Given the description of an element on the screen output the (x, y) to click on. 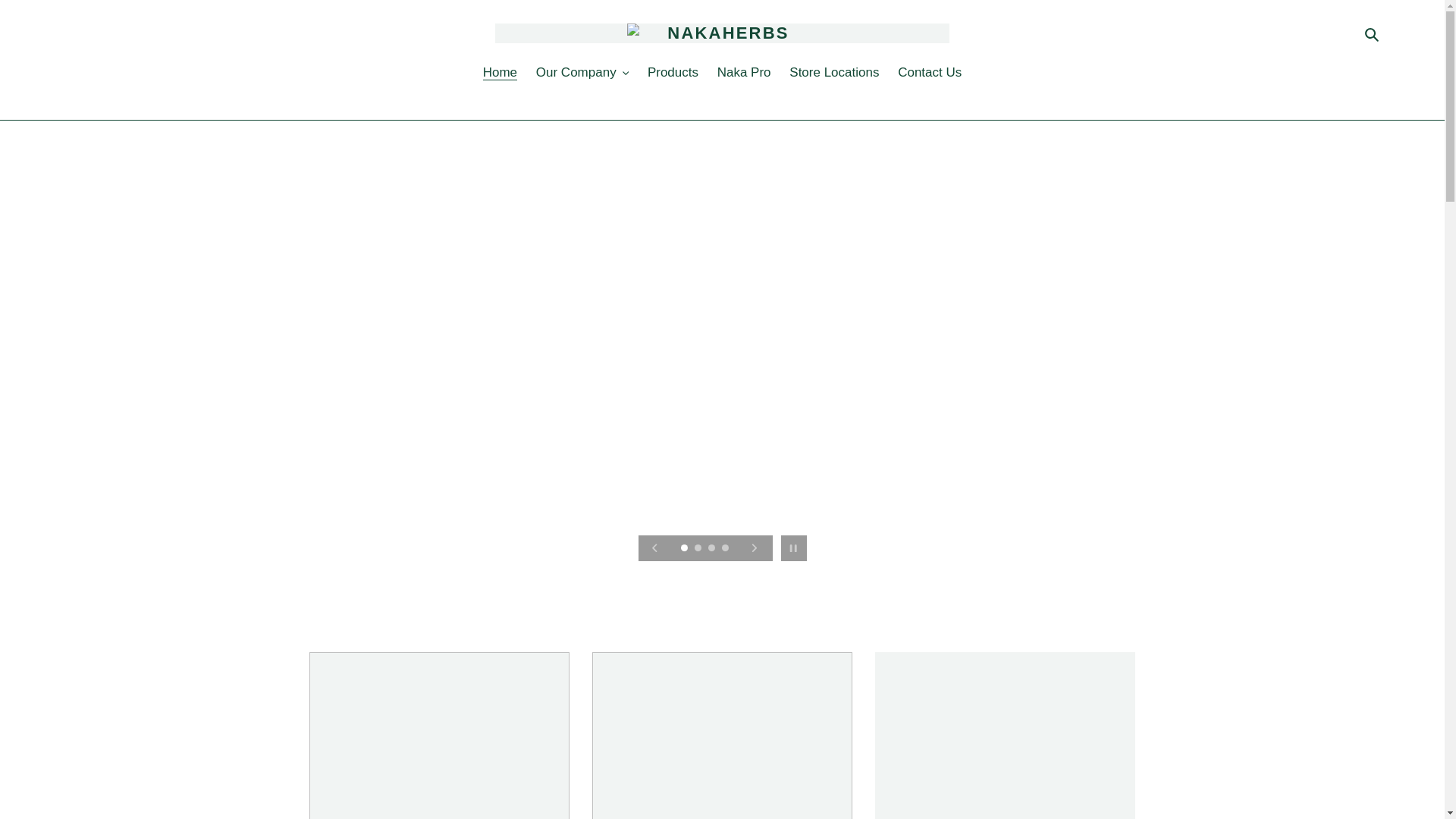
Products (673, 73)
Contact Us (929, 73)
Store Locations (833, 73)
Our Company (582, 73)
Naka Pro (744, 73)
Search (1372, 33)
Home (500, 73)
Pause slideshow (792, 548)
Cart (1394, 32)
